Given the description of an element on the screen output the (x, y) to click on. 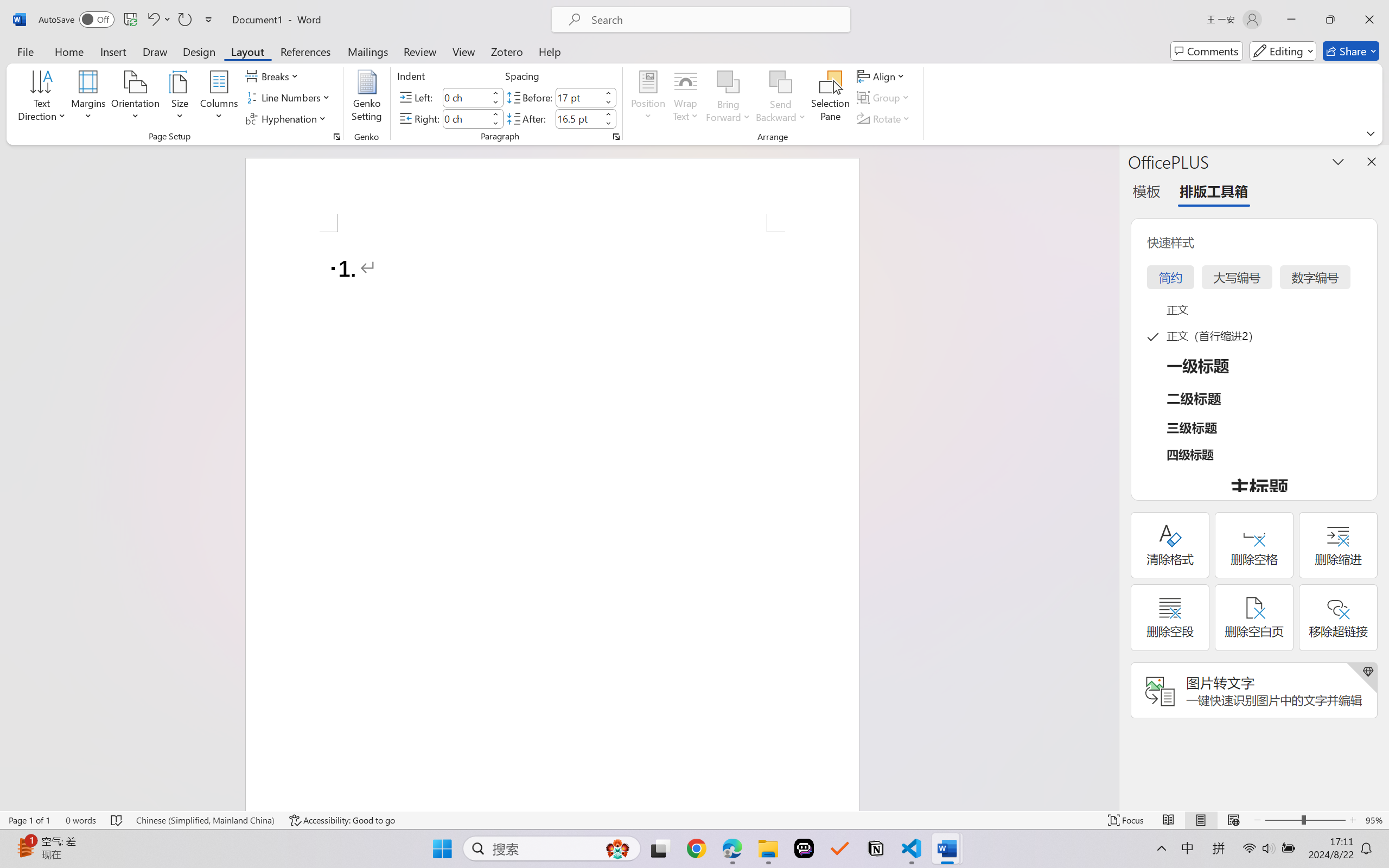
Hyphenation (287, 118)
Indent Right (465, 118)
Zoom 95% (1374, 819)
Selection Pane... (830, 97)
Wrap Text (685, 97)
Spacing After (578, 118)
